Given the description of an element on the screen output the (x, y) to click on. 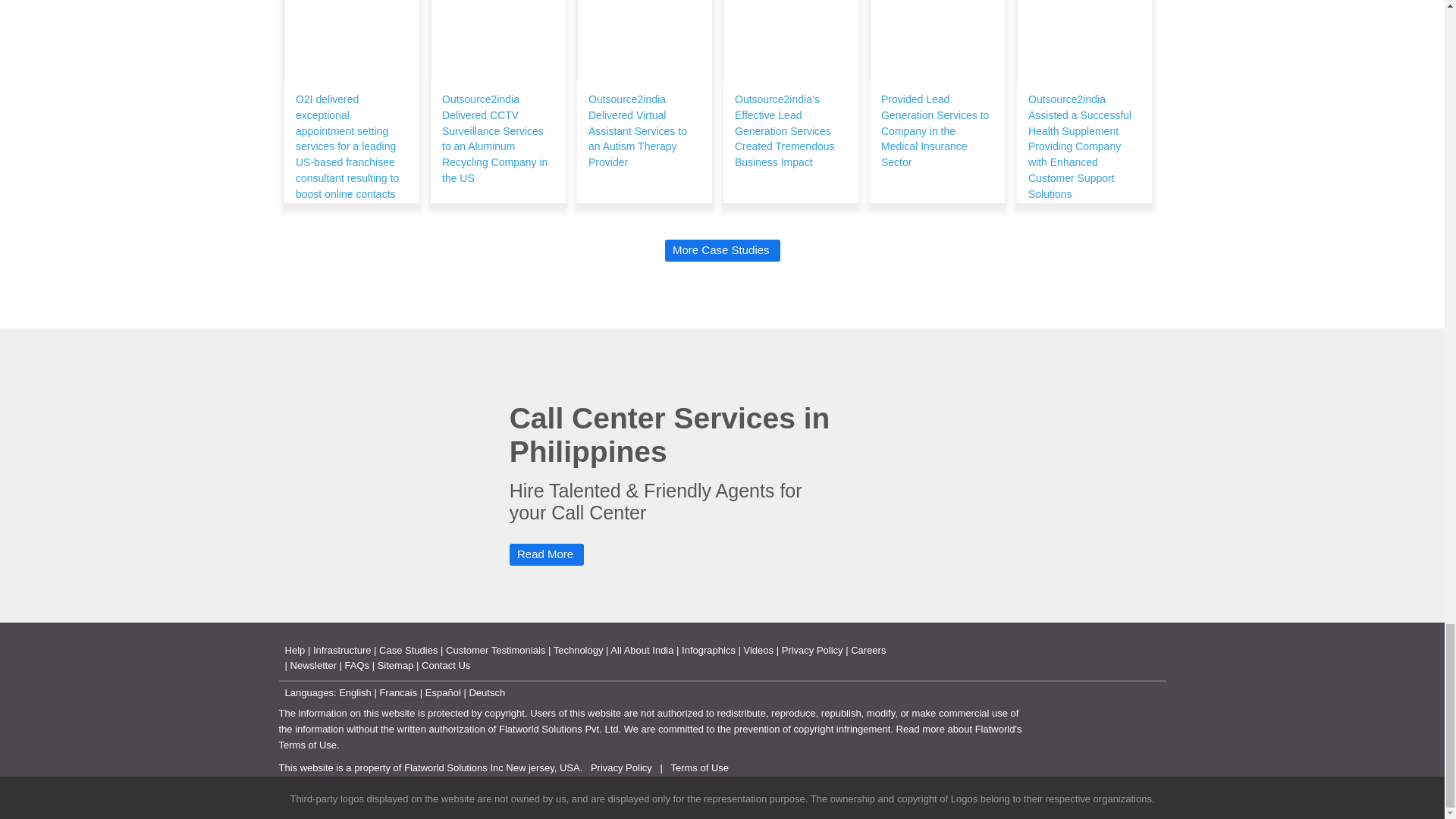
Twitter (1093, 721)
Protected by Copyscape Plagiarism Checker (1081, 767)
